Given the description of an element on the screen output the (x, y) to click on. 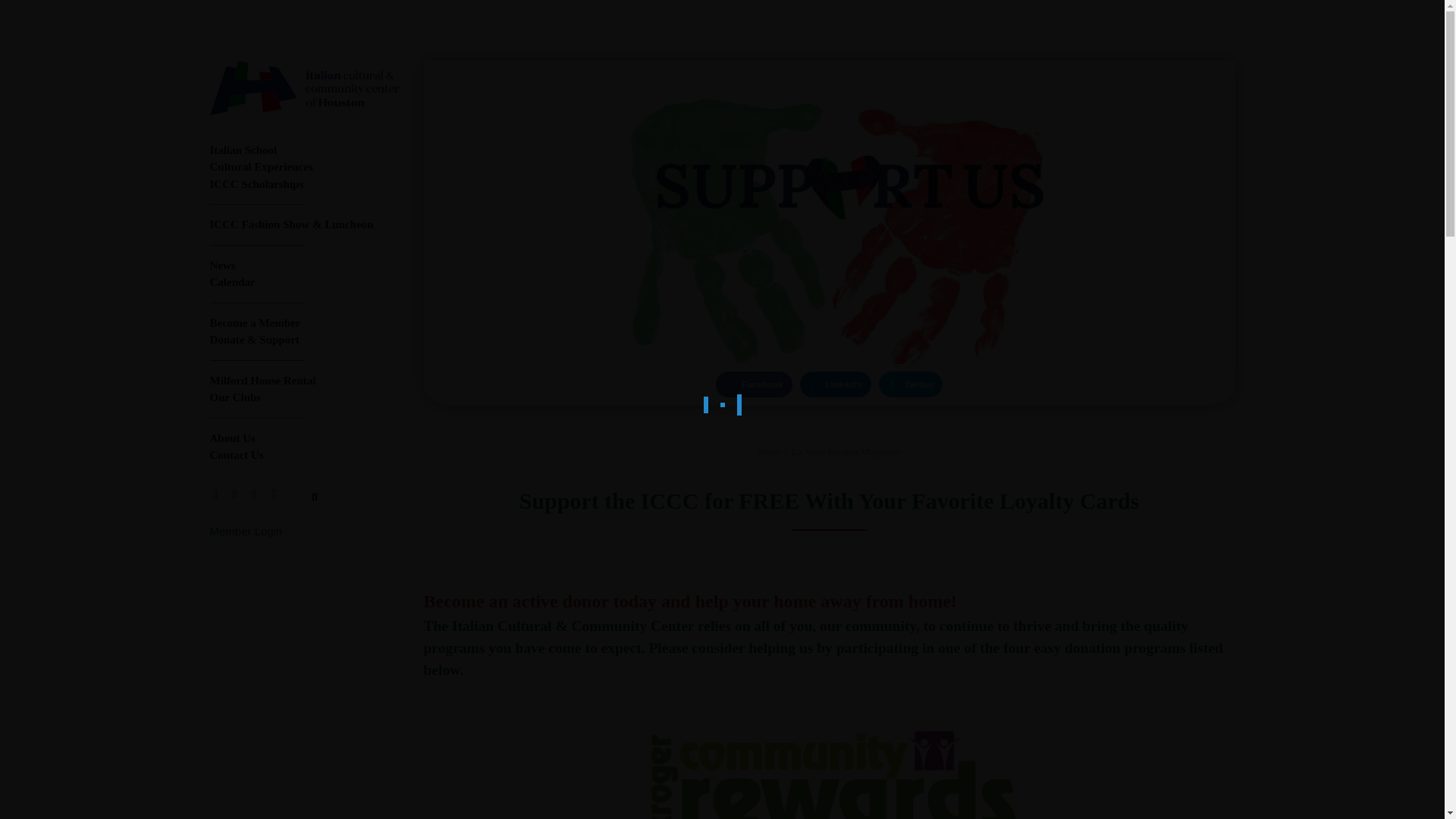
Our Clubs (303, 397)
Become a Member (303, 323)
Contact Us (303, 455)
Milford House Rental (303, 380)
Member Login (245, 530)
Cultural Experiences (303, 167)
Calendar (303, 282)
ICCC Scholarships (303, 184)
News (303, 265)
About Us (303, 438)
